Given the description of an element on the screen output the (x, y) to click on. 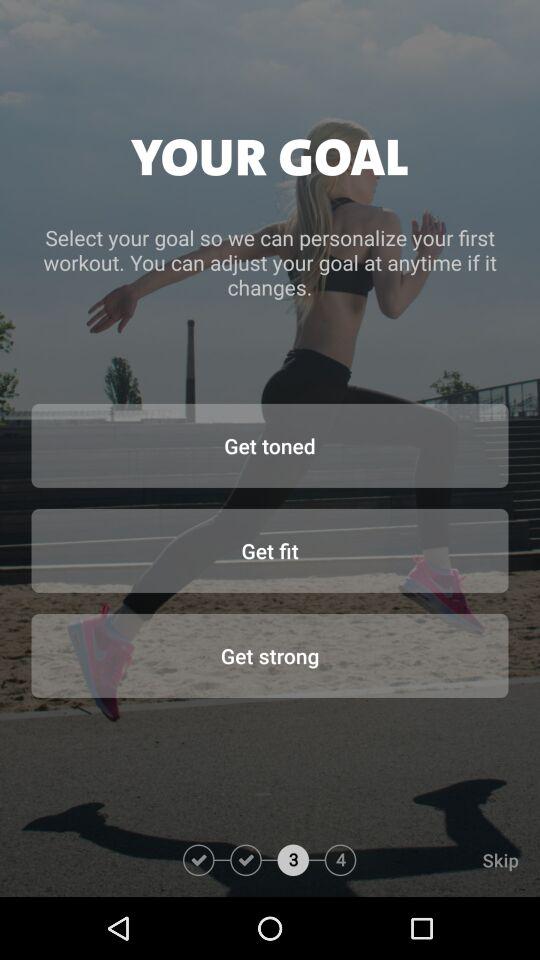
swipe until the skip (448, 859)
